Given the description of an element on the screen output the (x, y) to click on. 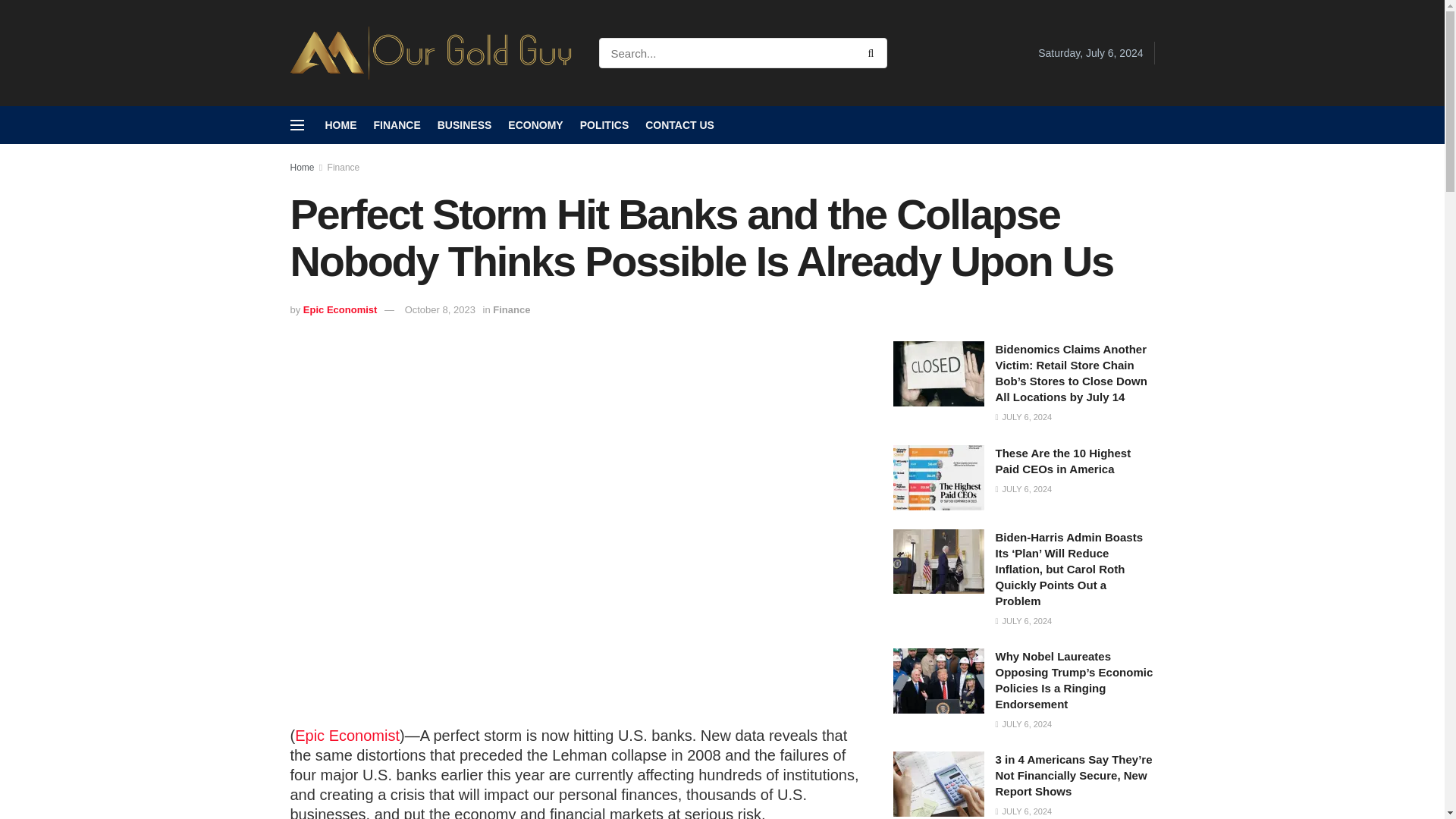
ECONOMY (535, 125)
October 8, 2023 (440, 309)
CONTACT US (679, 125)
Epic Economist (346, 735)
Finance (343, 167)
BUSINESS (465, 125)
POLITICS (603, 125)
Finance (511, 309)
FINANCE (396, 125)
Home (301, 167)
Epic Economist (339, 309)
